Given the description of an element on the screen output the (x, y) to click on. 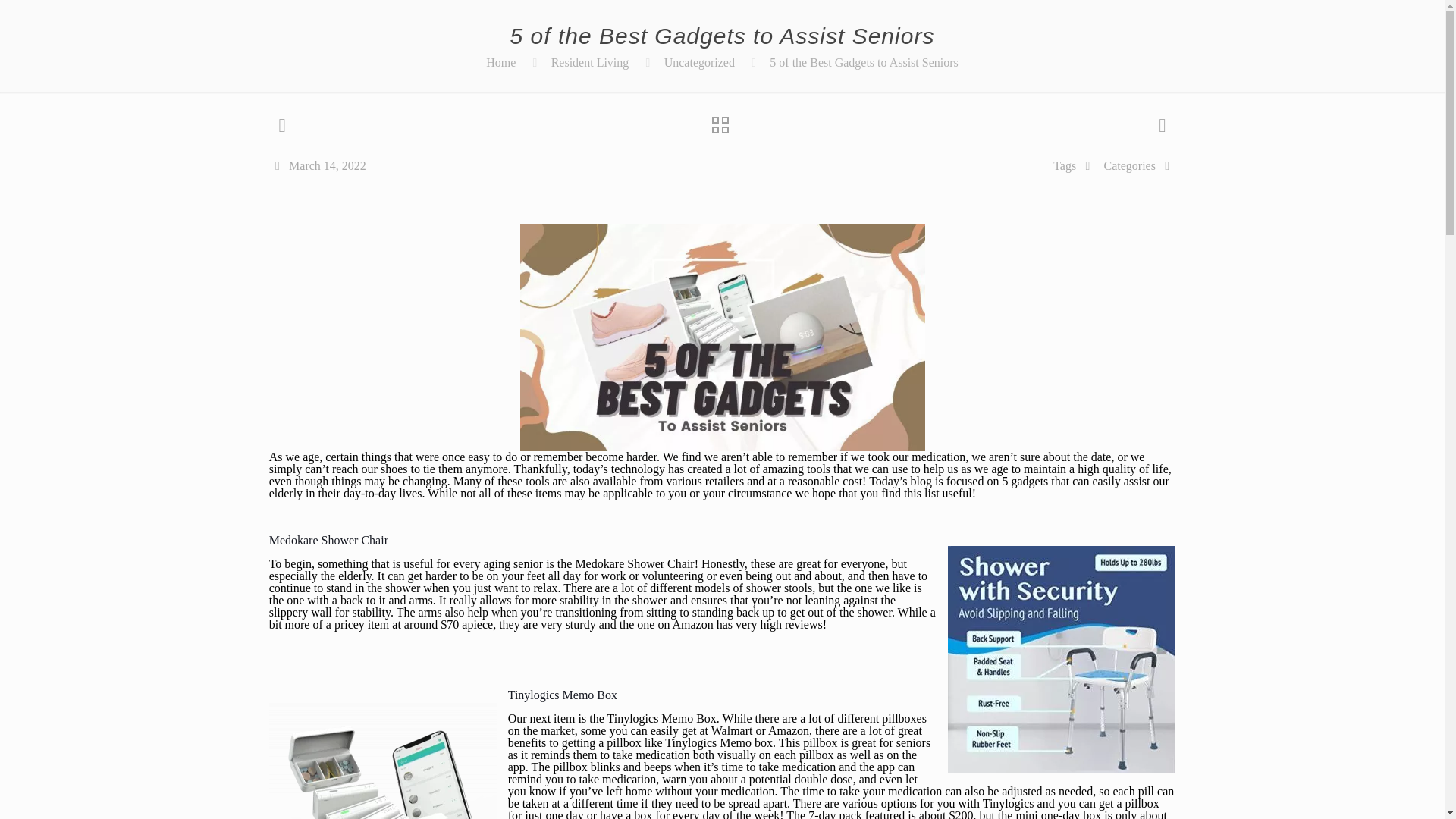
Amazon (692, 624)
Resident Living (589, 62)
Medokare Shower Chair (634, 563)
Uncategorized (699, 62)
Home (500, 62)
Tinylogics Memo Box (661, 717)
5 of the Best Gadgets to Assist Seniors (864, 62)
Medokare Shower Chair (328, 540)
